Given the description of an element on the screen output the (x, y) to click on. 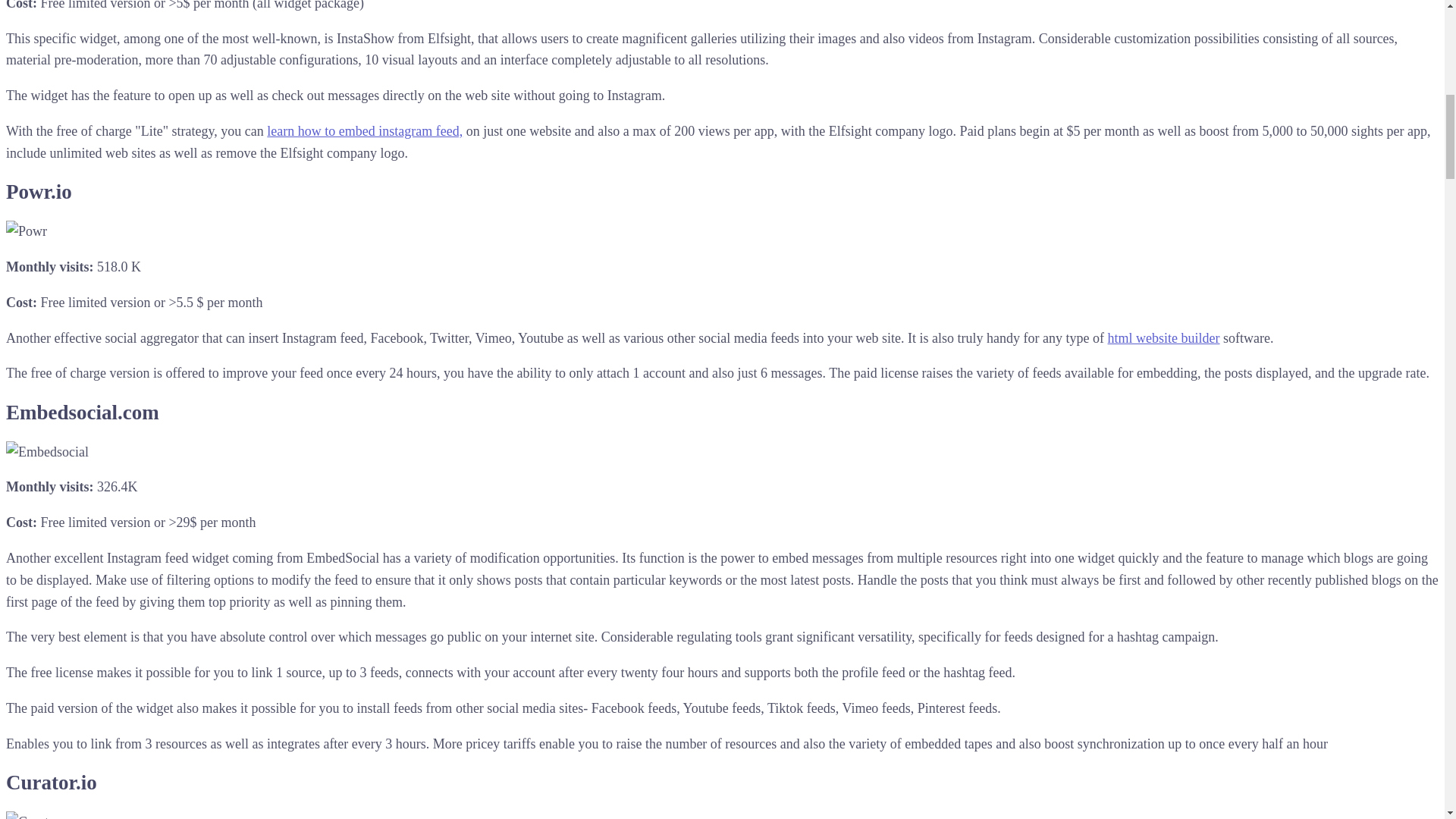
learn how to embed instagram feed, (364, 130)
html website builder (1164, 337)
